Given the description of an element on the screen output the (x, y) to click on. 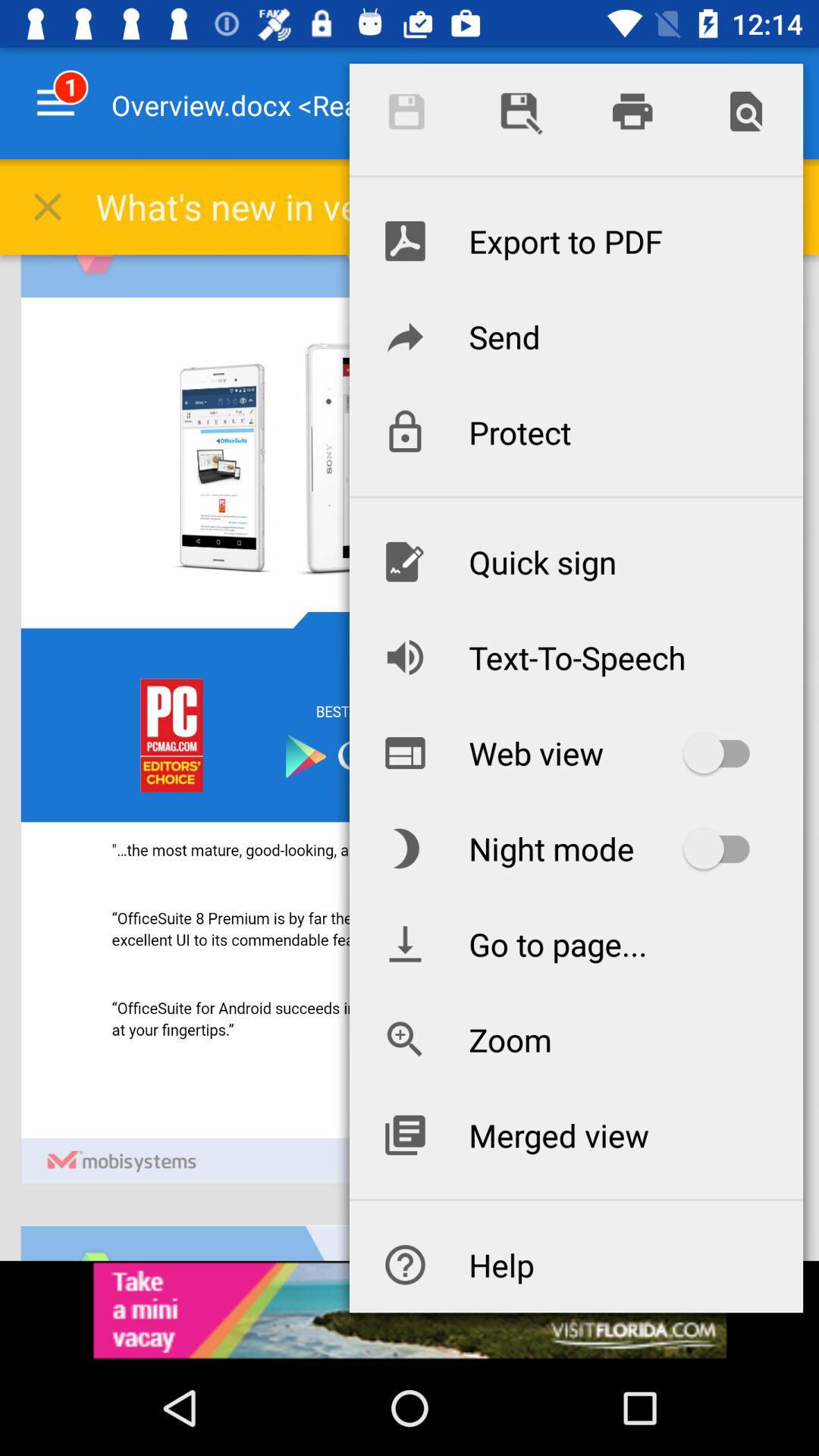
choose icon above night mode icon (576, 752)
